Given the description of an element on the screen output the (x, y) to click on. 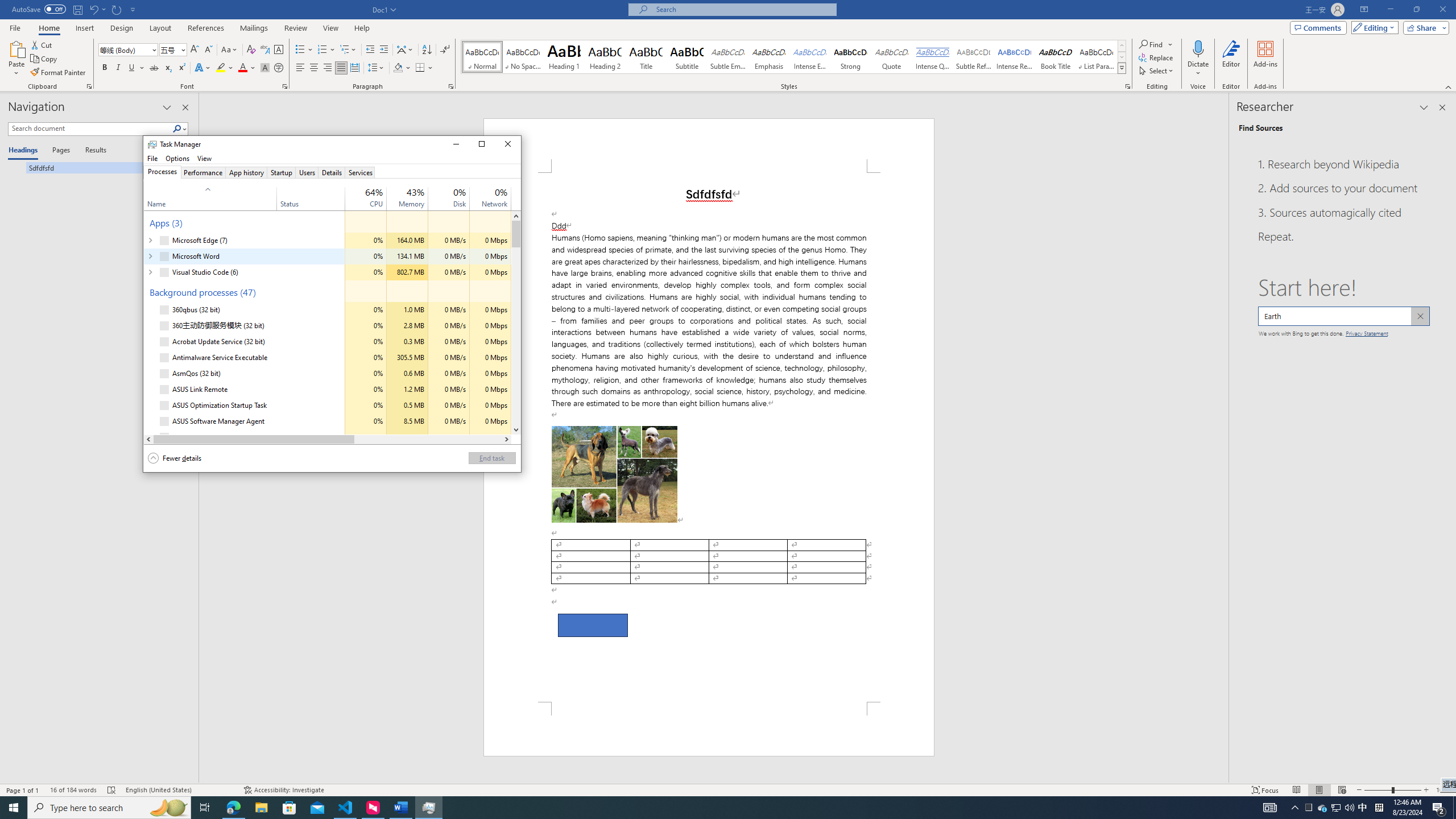
AutomationID: QuickStylesGallery (794, 56)
Microsoft Store (289, 807)
Performance (1308, 807)
CPU (202, 171)
Users (366, 437)
64% (306, 171)
Column right (374, 191)
